Given the description of an element on the screen output the (x, y) to click on. 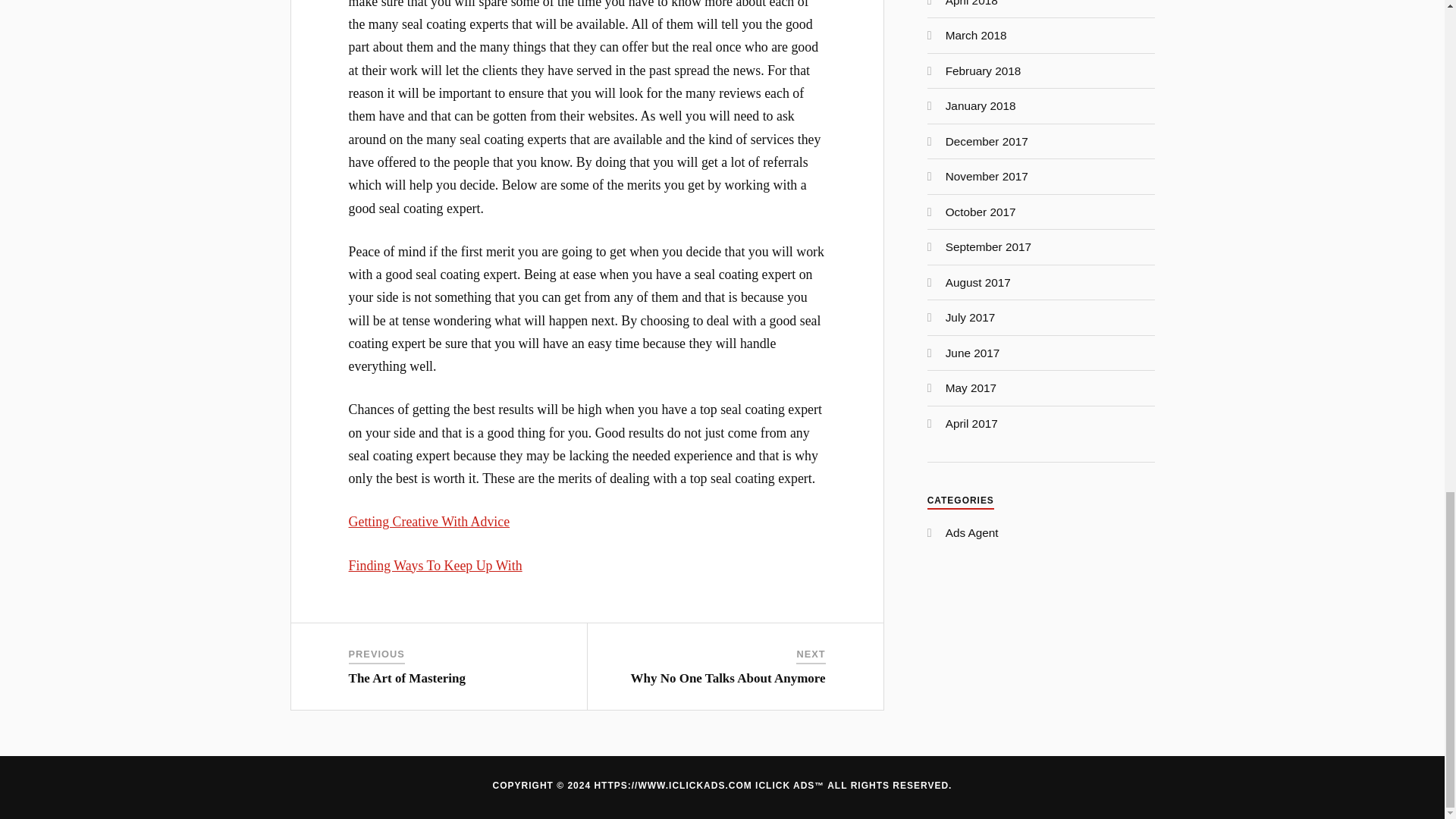
February 2018 (983, 70)
Getting Creative With Advice (430, 521)
July 2017 (969, 317)
April 2018 (970, 3)
August 2017 (977, 282)
September 2017 (987, 246)
Why No One Talks About Anymore (727, 677)
December 2017 (985, 141)
November 2017 (985, 175)
June 2017 (972, 352)
March 2018 (975, 34)
January 2018 (980, 105)
Finding Ways To Keep Up With (435, 564)
October 2017 (980, 211)
The Art of Mastering (407, 677)
